Given the description of an element on the screen output the (x, y) to click on. 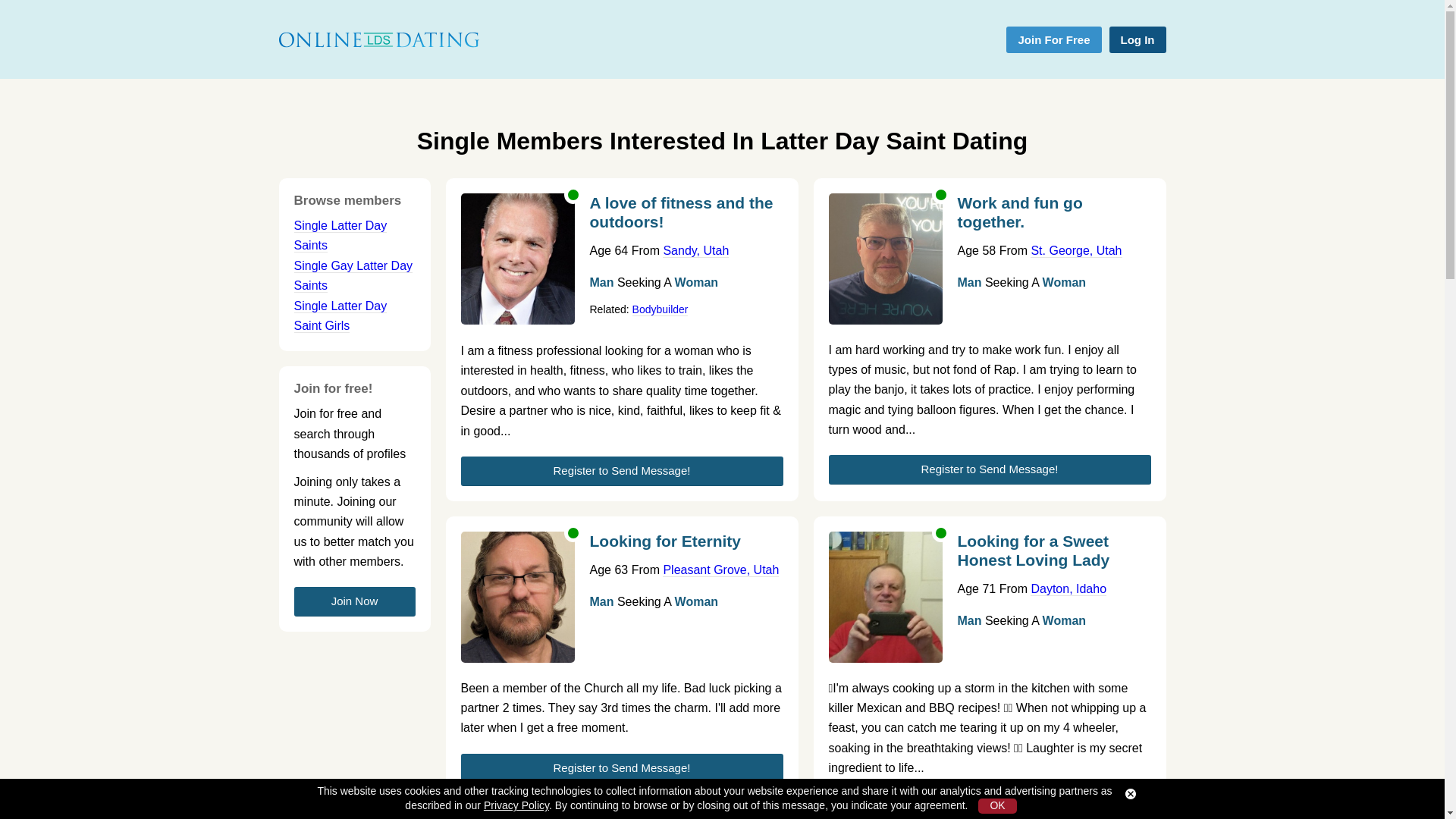
Bodybuilder (659, 309)
Register to Send Message! (989, 806)
Looking for a Sweet Honest Loving Lady (1053, 555)
Join Now (354, 601)
Single Gay Latter Day Saints (353, 275)
St. George, Utah (1075, 250)
OK (997, 806)
Single Latter Day Saints (340, 235)
Log In (1137, 39)
Register to Send Message! (622, 767)
Sandy, Utah (695, 250)
Looking for Eternity (686, 546)
Close (1130, 793)
Pleasant Grove, Utah (720, 570)
Single Latter Day Saint Girls (340, 315)
